Given the description of an element on the screen output the (x, y) to click on. 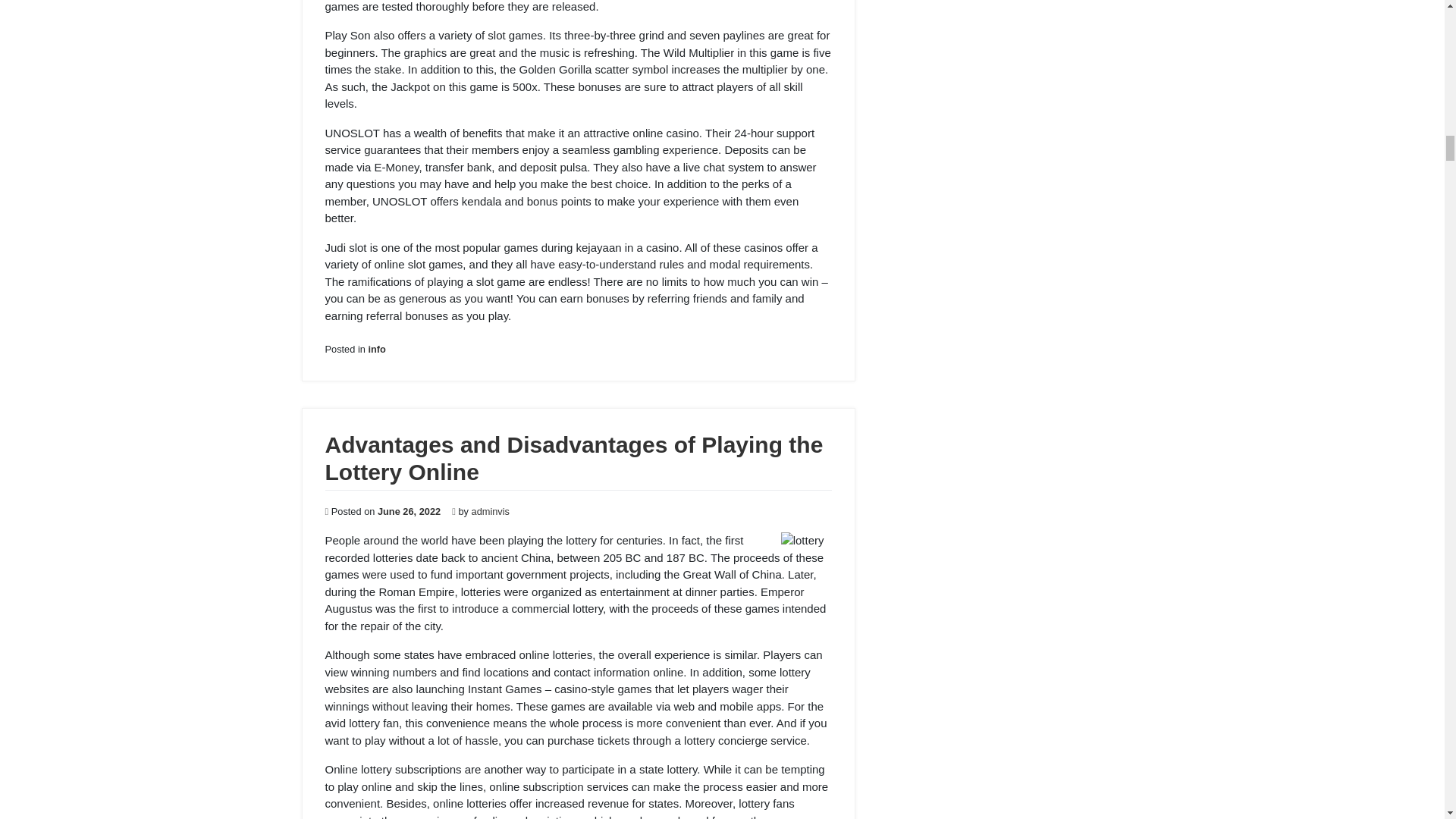
info (376, 348)
June 26, 2022 (409, 511)
Advantages and Disadvantages of Playing the Lottery Online (573, 458)
adminvis (491, 511)
